Given the description of an element on the screen output the (x, y) to click on. 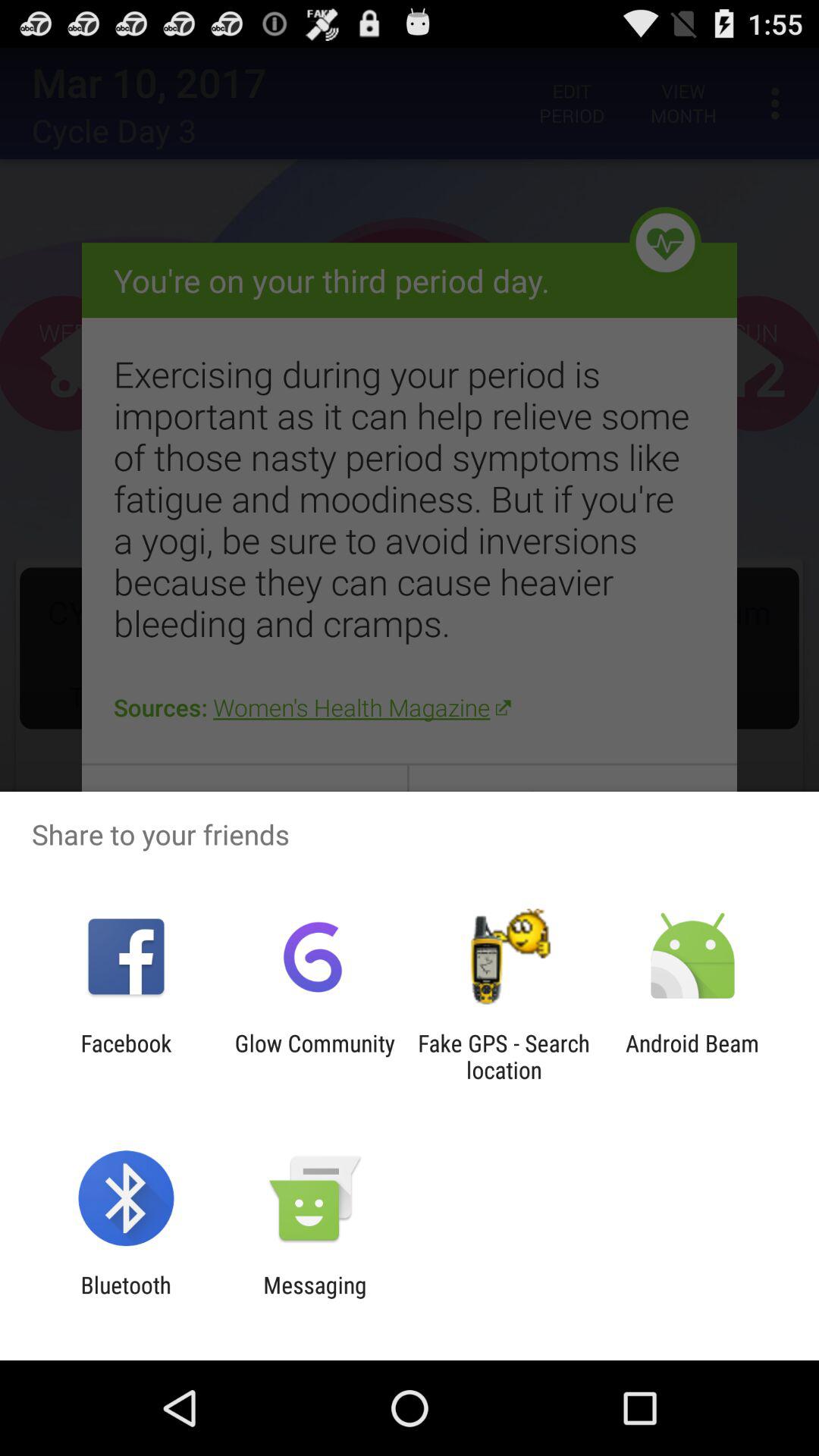
turn off android beam app (692, 1056)
